Given the description of an element on the screen output the (x, y) to click on. 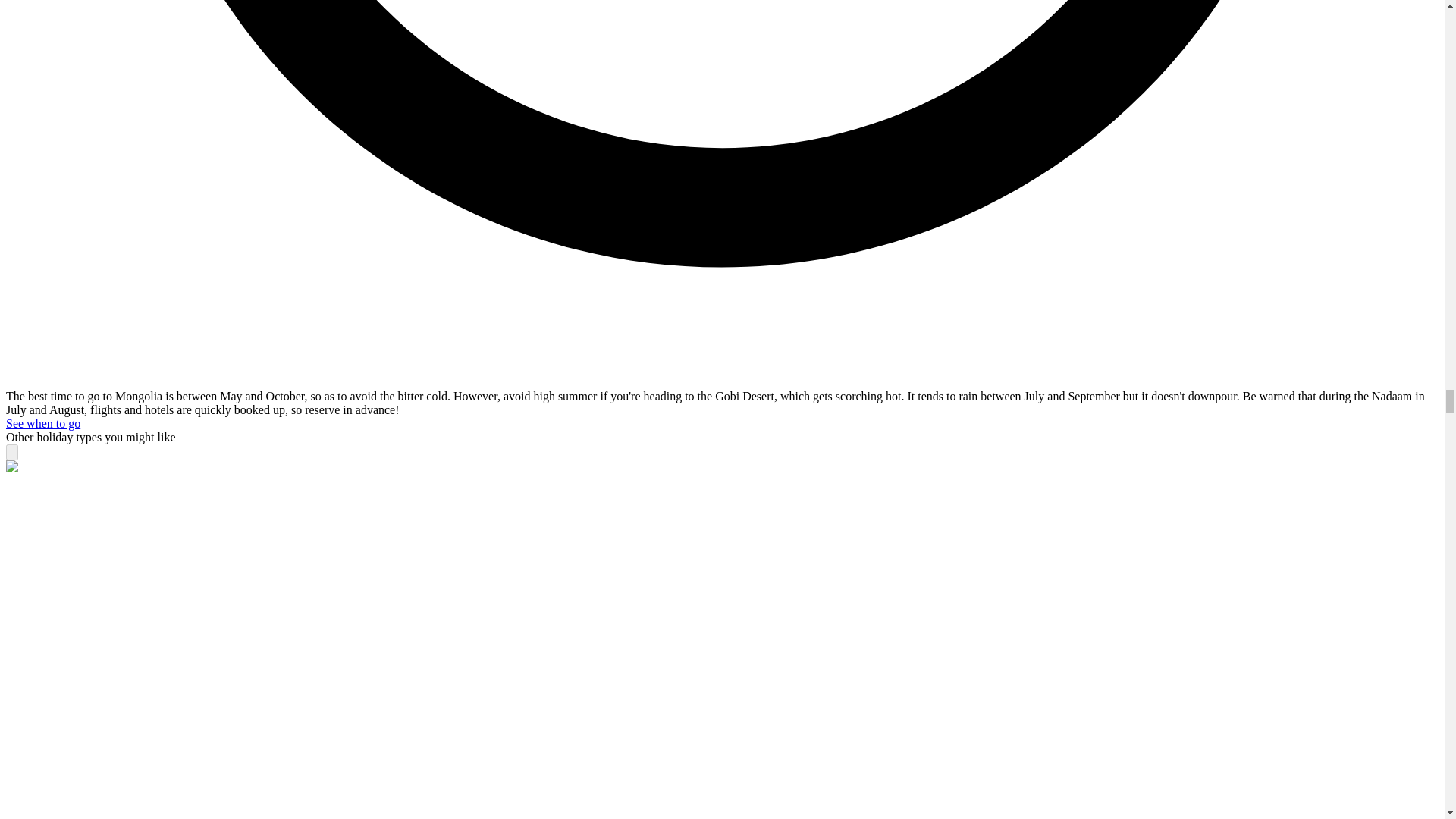
When to go in Mongolia? (42, 422)
See when to go (42, 422)
